Given the description of an element on the screen output the (x, y) to click on. 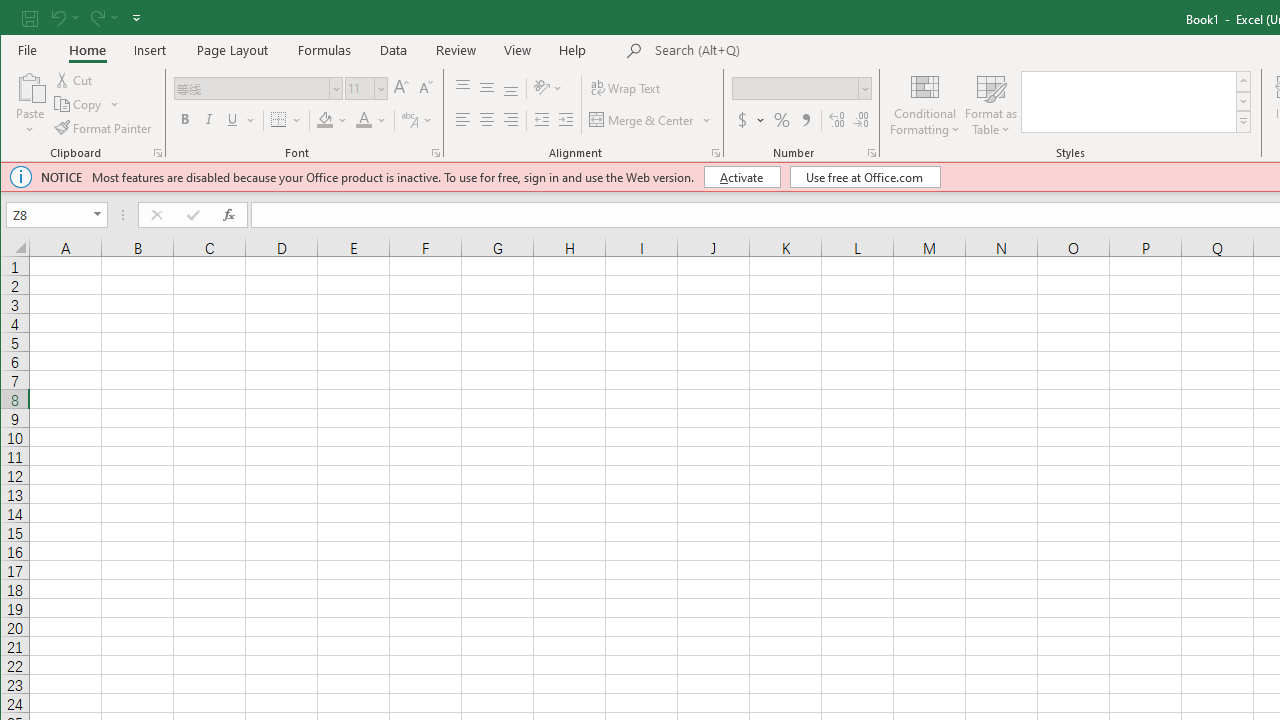
Fill Color (324, 119)
Font Size (366, 88)
Italic (209, 119)
Center (486, 119)
Format Cell Alignment (715, 152)
Cell Styles (1243, 121)
Borders (285, 119)
Merge & Center (650, 119)
Font Size (359, 88)
Decrease Indent (541, 119)
AutomationID: CellStylesGallery (1137, 102)
